Given the description of an element on the screen output the (x, y) to click on. 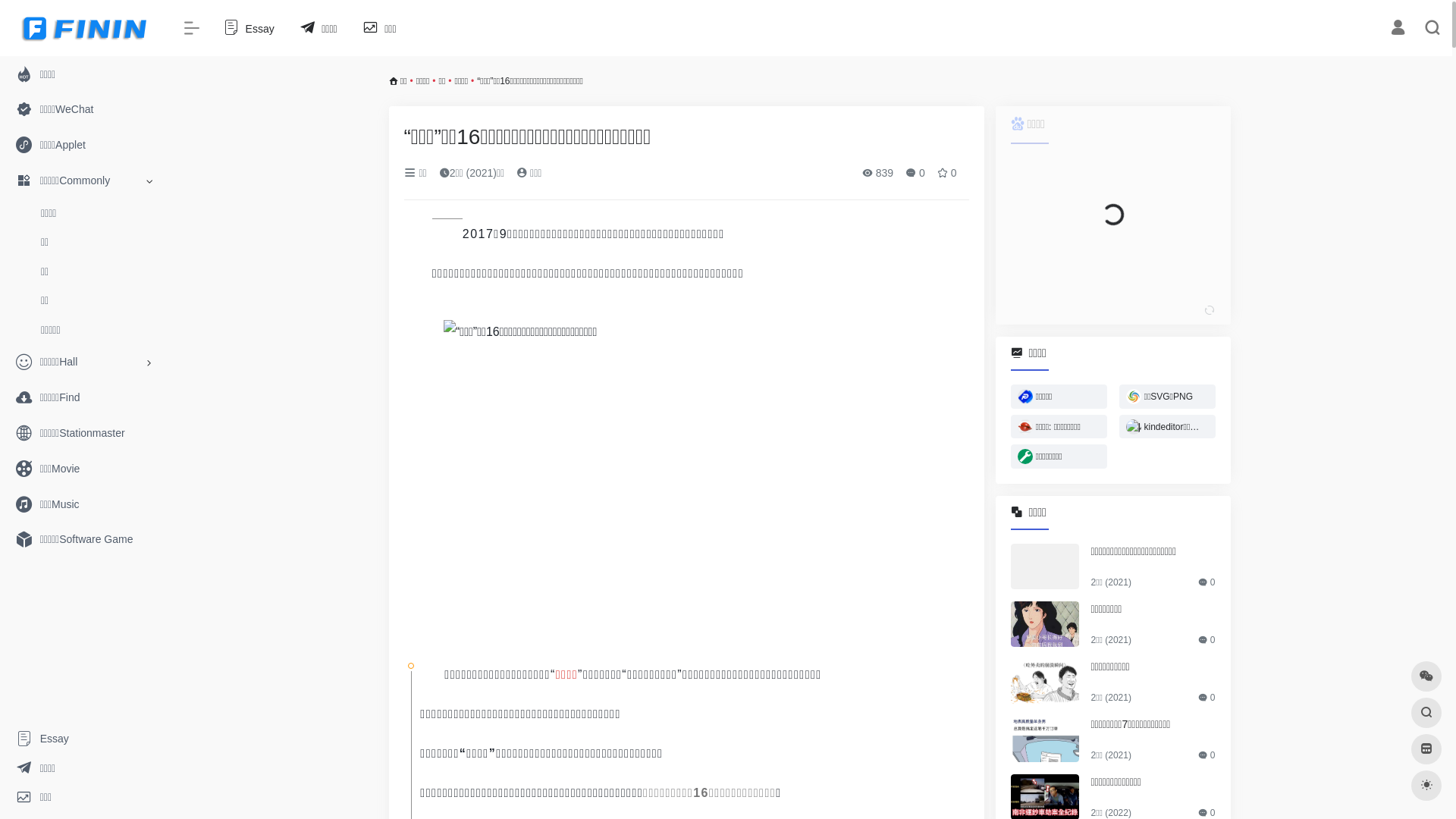
Essay Element type: text (247, 28)
0 Element type: text (915, 172)
Essay Element type: text (83, 738)
0 Element type: text (947, 172)
